Given the description of an element on the screen output the (x, y) to click on. 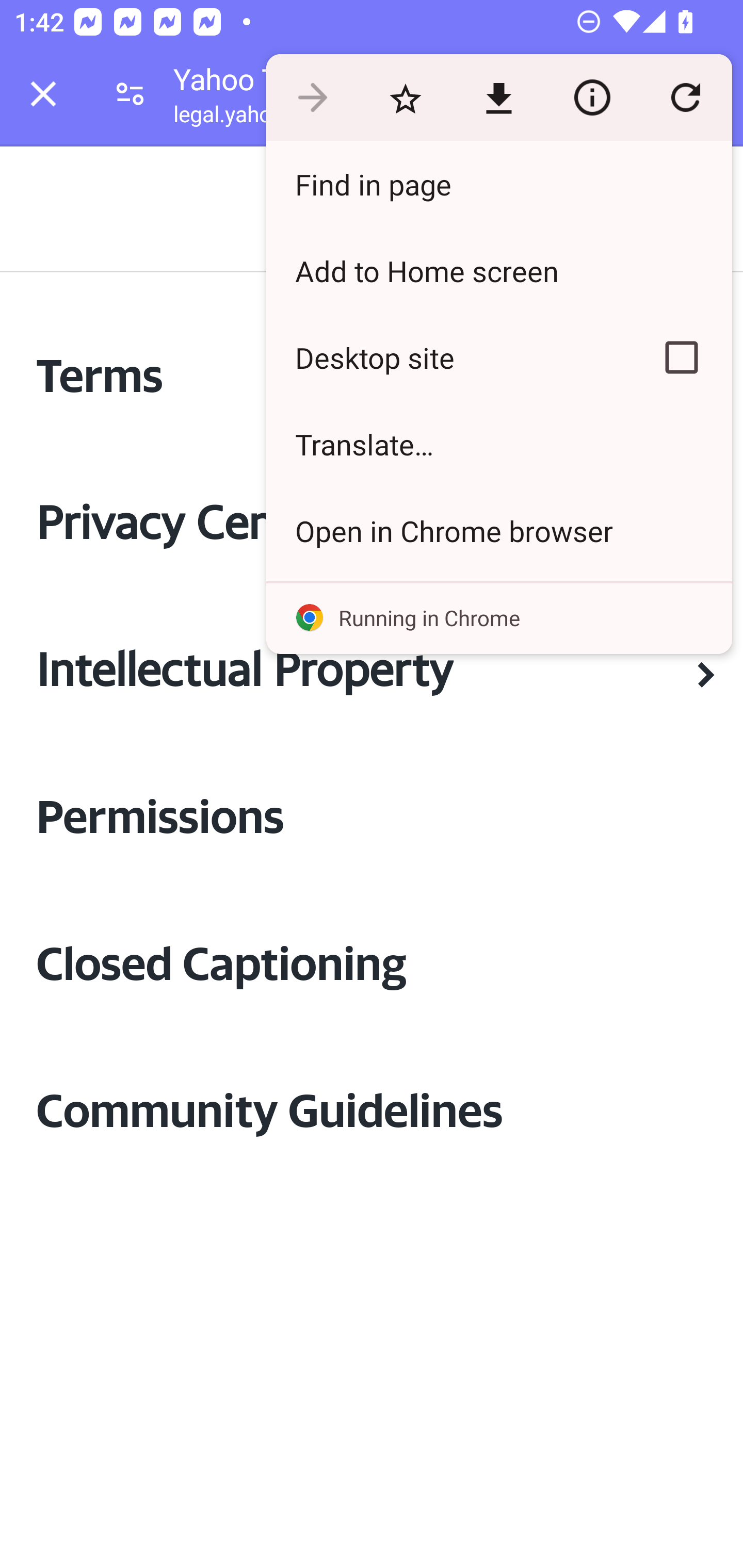
Go forward (311, 97)
Bookmark (404, 97)
Download this page (498, 97)
View site information (591, 97)
Refresh (684, 97)
Find in page (498, 184)
Add to Home screen (498, 270)
Desktop site Turn on Request desktop site (447, 357)
Translate… (498, 444)
Open in Chrome browser (498, 530)
